Given the description of an element on the screen output the (x, y) to click on. 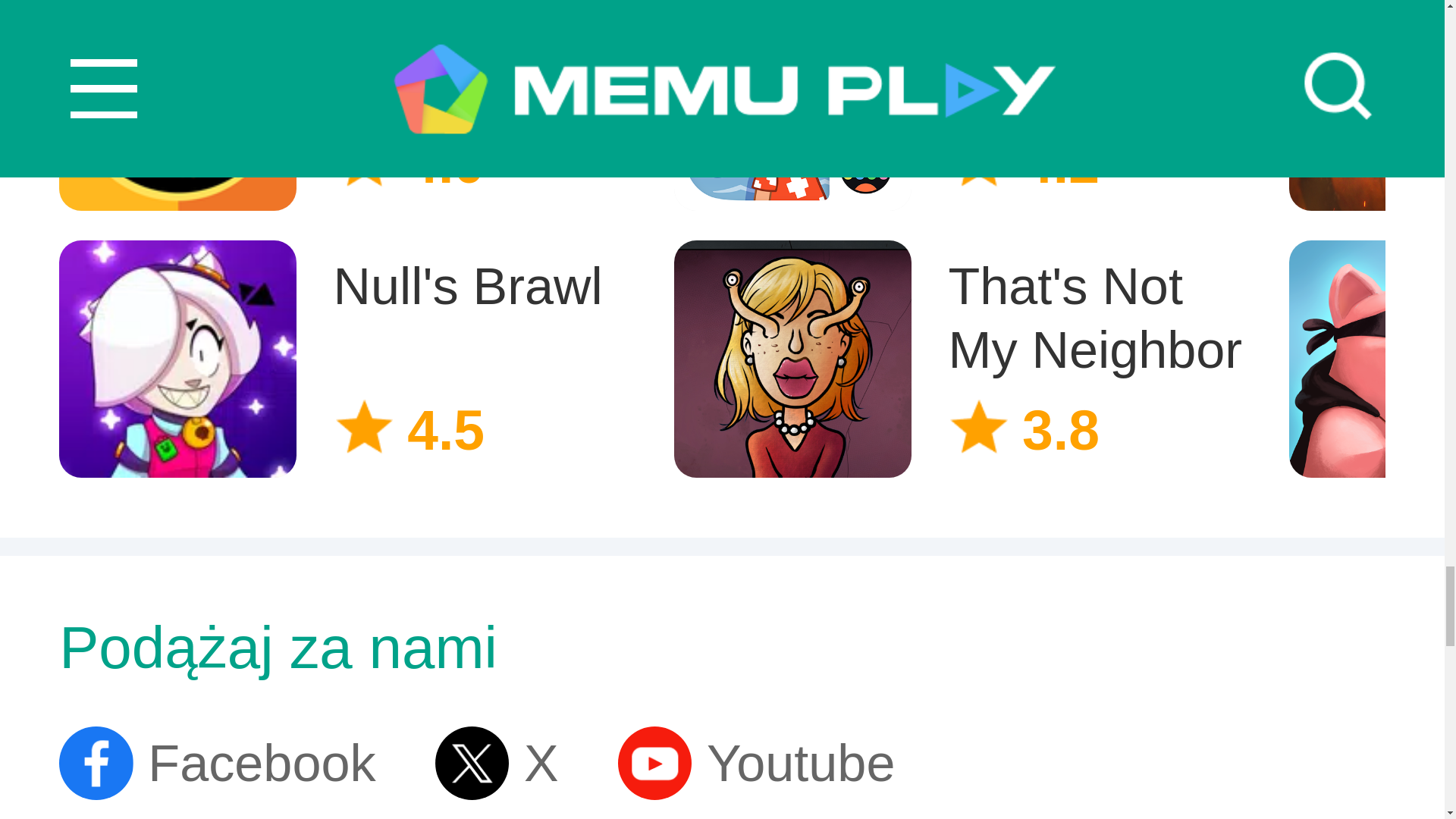
Facebook (966, 351)
